Given the description of an element on the screen output the (x, y) to click on. 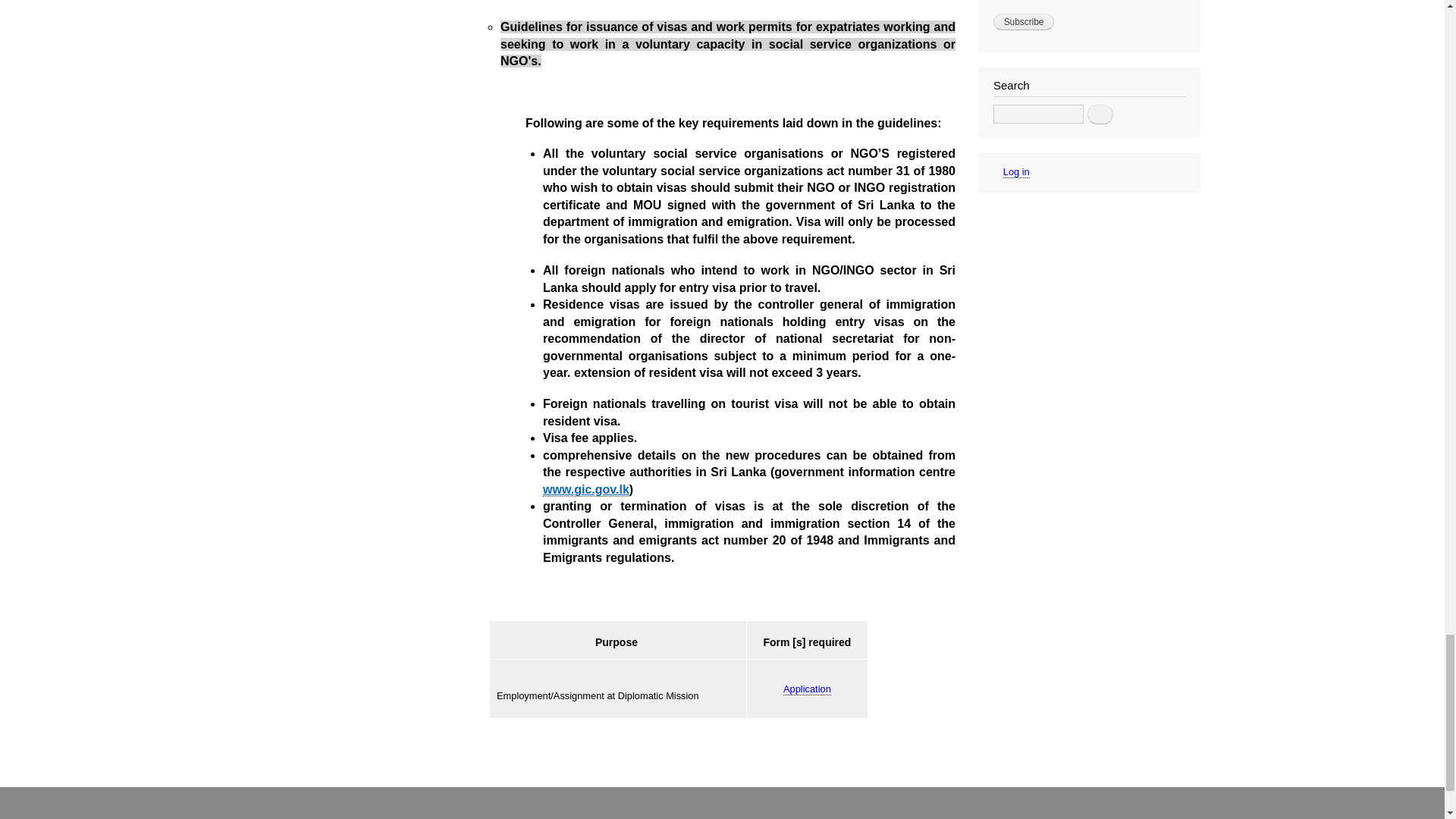
Enter the terms you wish to search for. (1037, 113)
Search (1100, 114)
Search (1100, 114)
Subscribe (1023, 21)
